Given the description of an element on the screen output the (x, y) to click on. 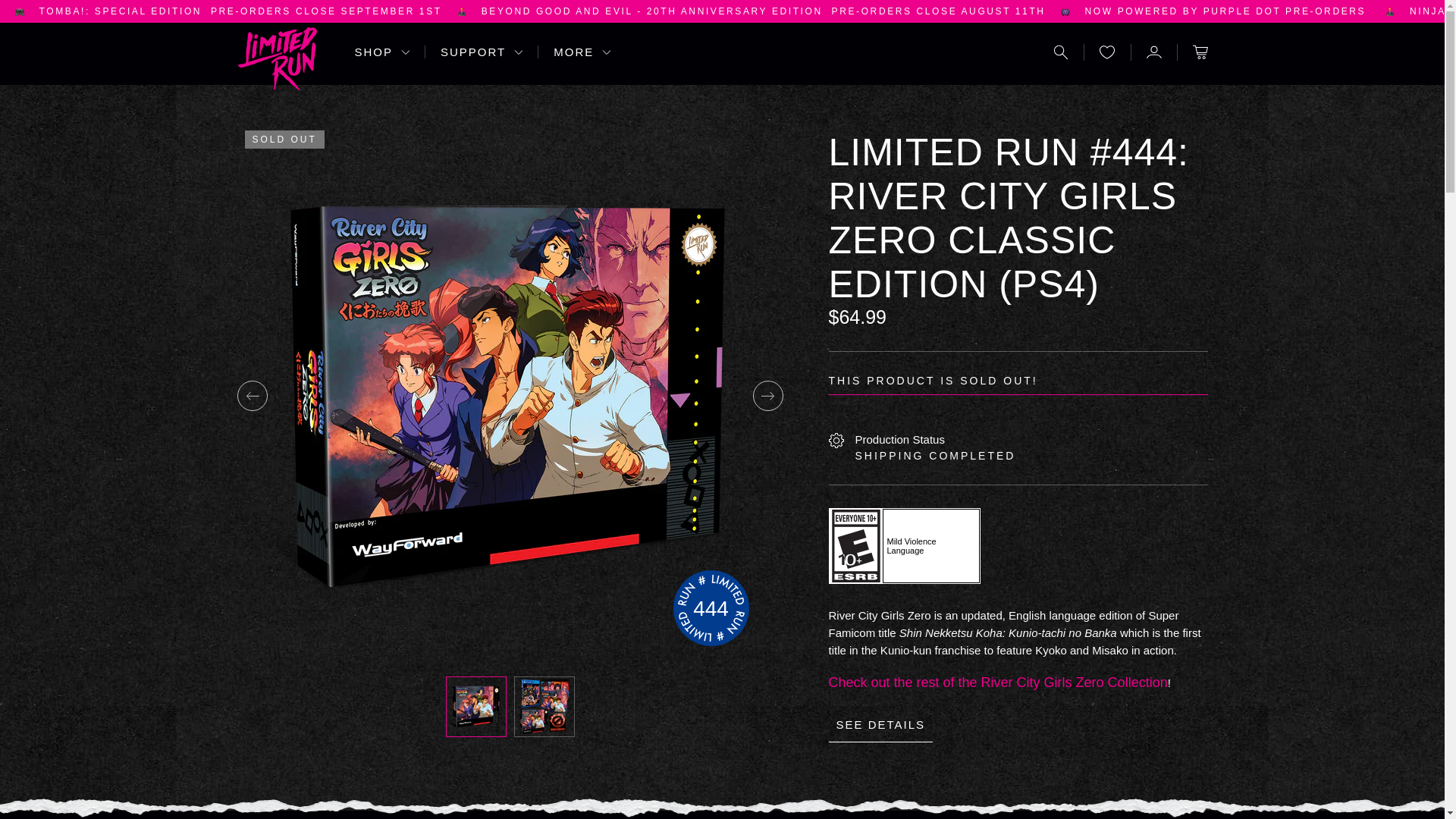
SHOP (382, 51)
